Given the description of an element on the screen output the (x, y) to click on. 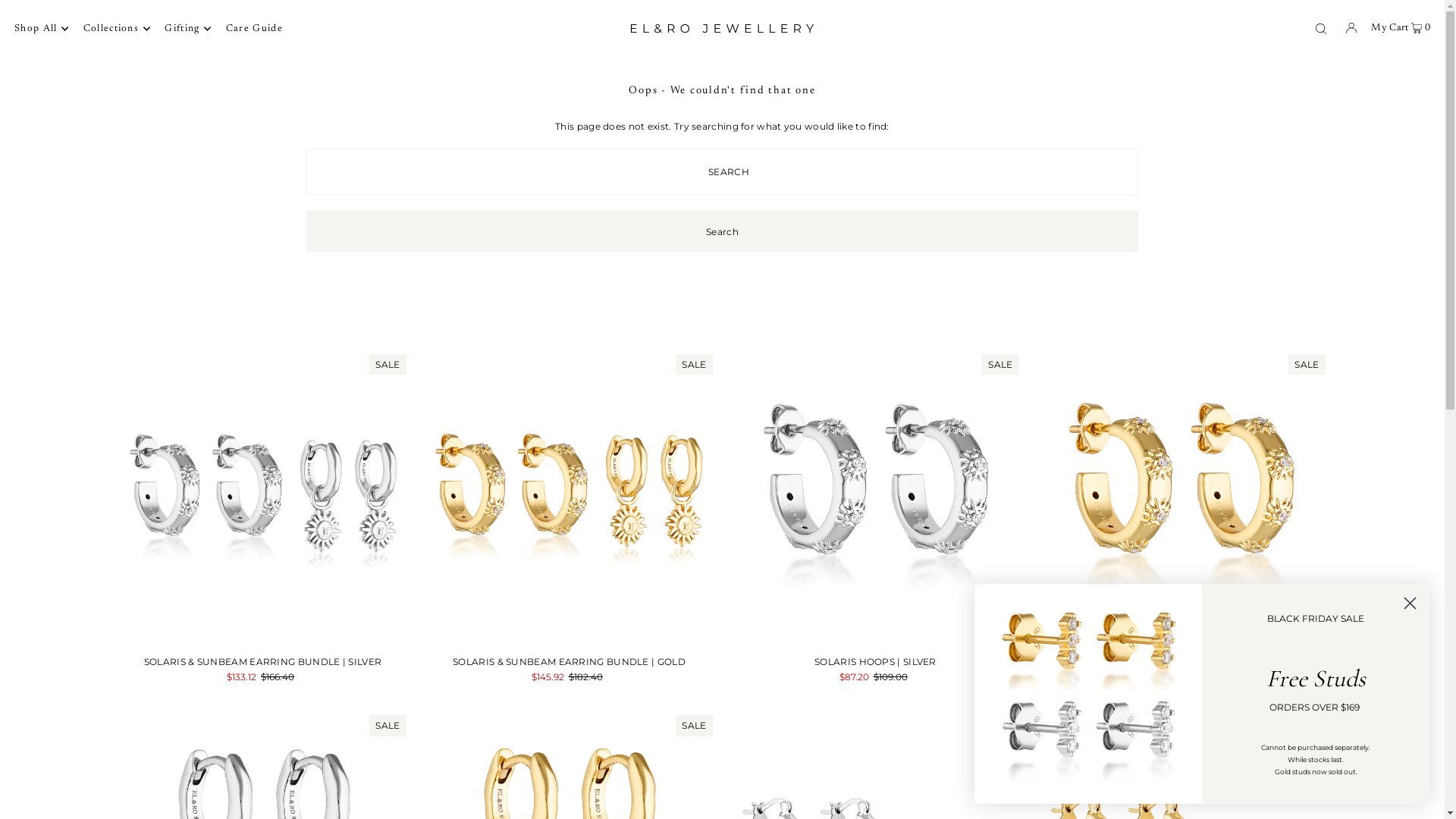
SOLARIS HOOPS | SILVER Element type: hover (875, 497)
SOLARIS HOOPS | GOLD Element type: hover (1181, 497)
SOLARIS & SUNBEAM EARRING BUNDLE | SILVER Element type: hover (262, 497)
Close dialog 1 Element type: text (1409, 602)
Submit Element type: text (227, 20)
SOLARIS & SUNBEAM EARRING BUNDLE | GOLD Element type: hover (568, 497)
Shop All Element type: text (41, 28)
SOLARIS HOOPS | SILVER Element type: text (875, 661)
SOLARIS & SUNBEAM EARRING BUNDLE | GOLD Element type: text (568, 661)
Search Element type: text (722, 230)
SOLARIS & SUNBEAM EARRING BUNDLE | SILVER Element type: text (262, 661)
SOLARIS HOOPS | GOLD Element type: text (1181, 661)
Care Guide Element type: text (253, 28)
Collections Element type: text (116, 28)
Gifting Element type: text (187, 28)
